Given the description of an element on the screen output the (x, y) to click on. 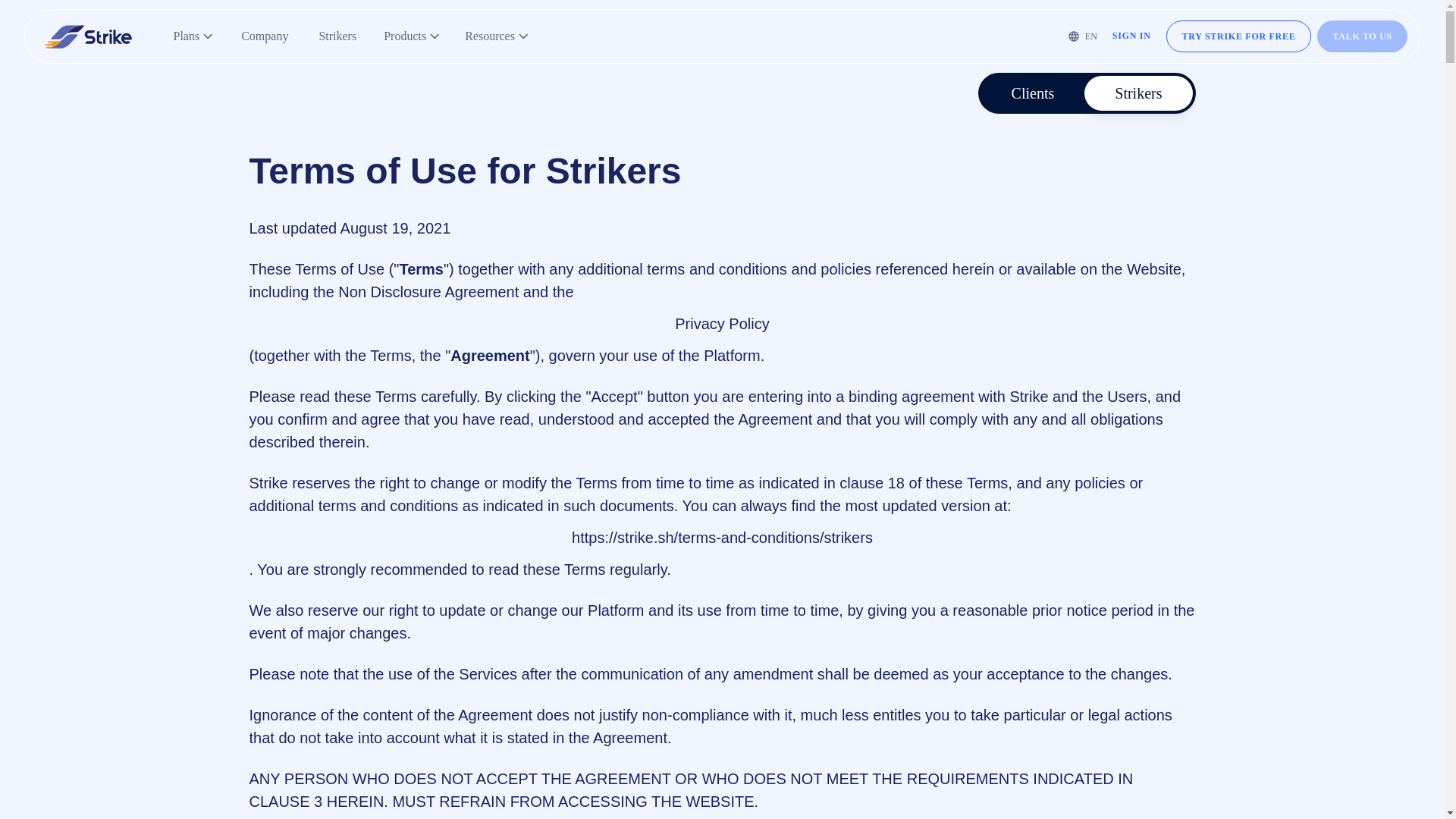
TRY STRIKE FOR FREE (1238, 36)
Resources (496, 36)
Strikers (336, 36)
TALK TO US (1362, 36)
Plans (193, 36)
EN (1082, 36)
SIGN IN (1131, 36)
Company (264, 36)
Products (411, 36)
